Given the description of an element on the screen output the (x, y) to click on. 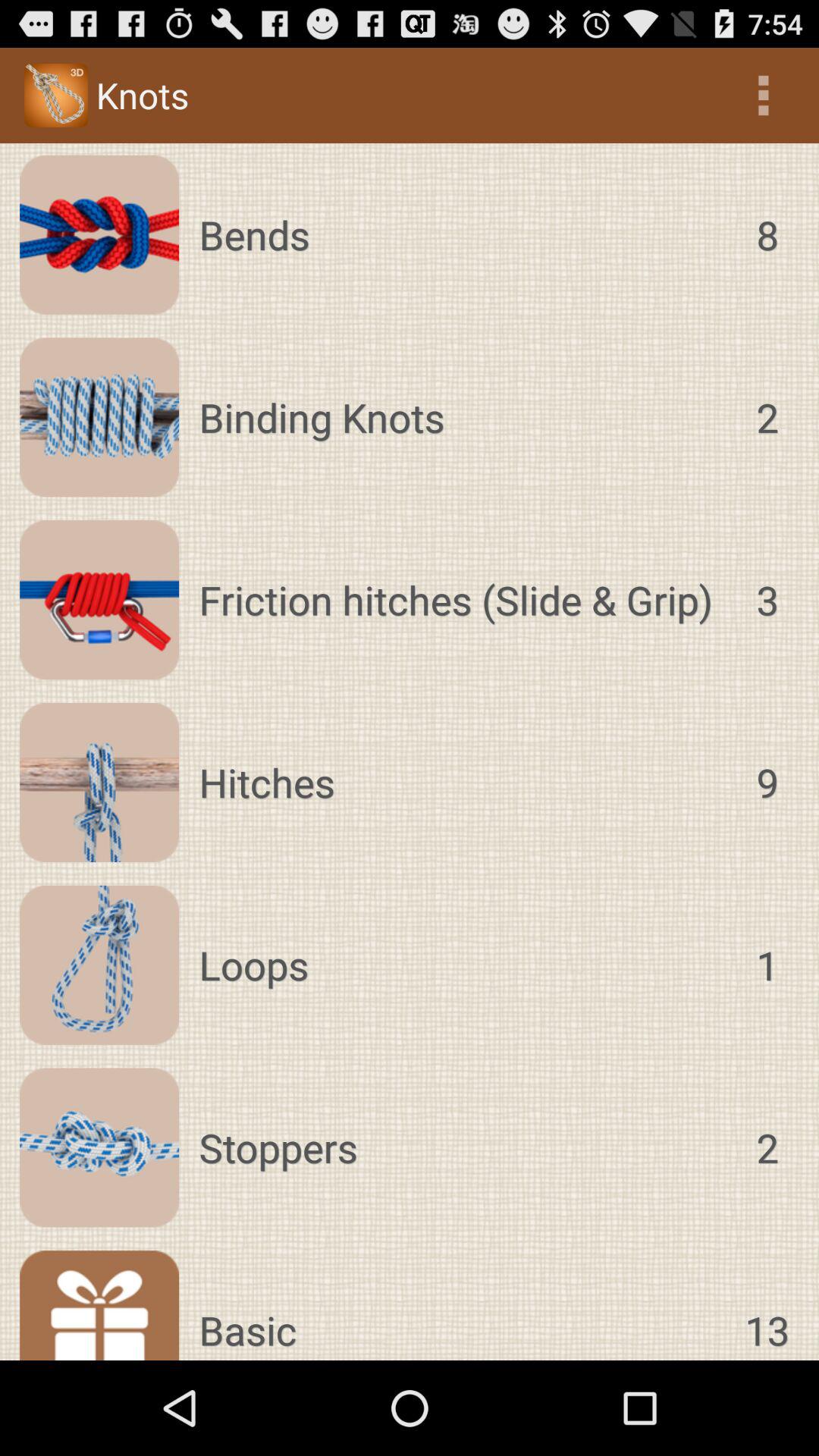
jump to the 9 icon (767, 782)
